Given the description of an element on the screen output the (x, y) to click on. 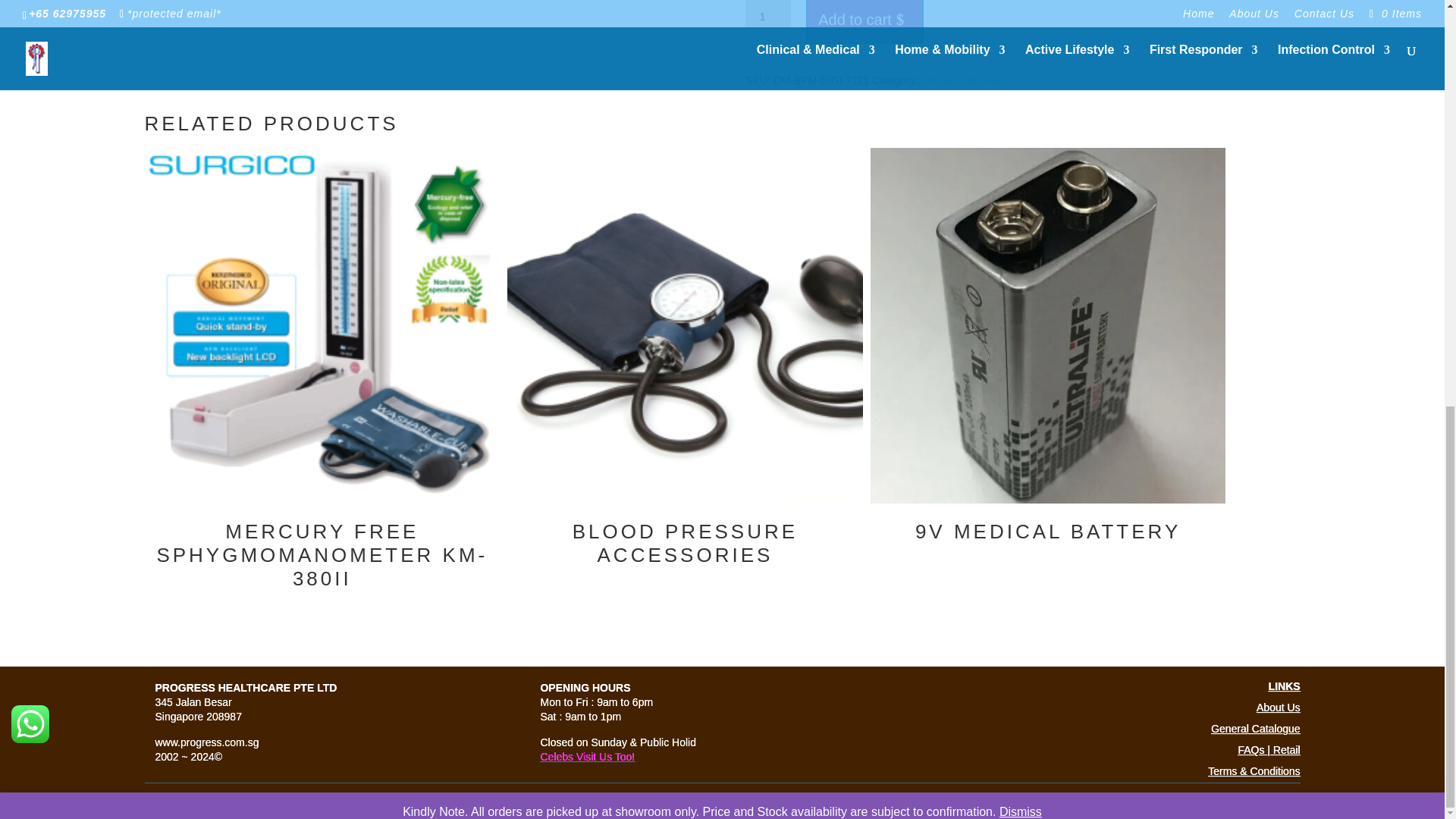
1 (767, 19)
